Given the description of an element on the screen output the (x, y) to click on. 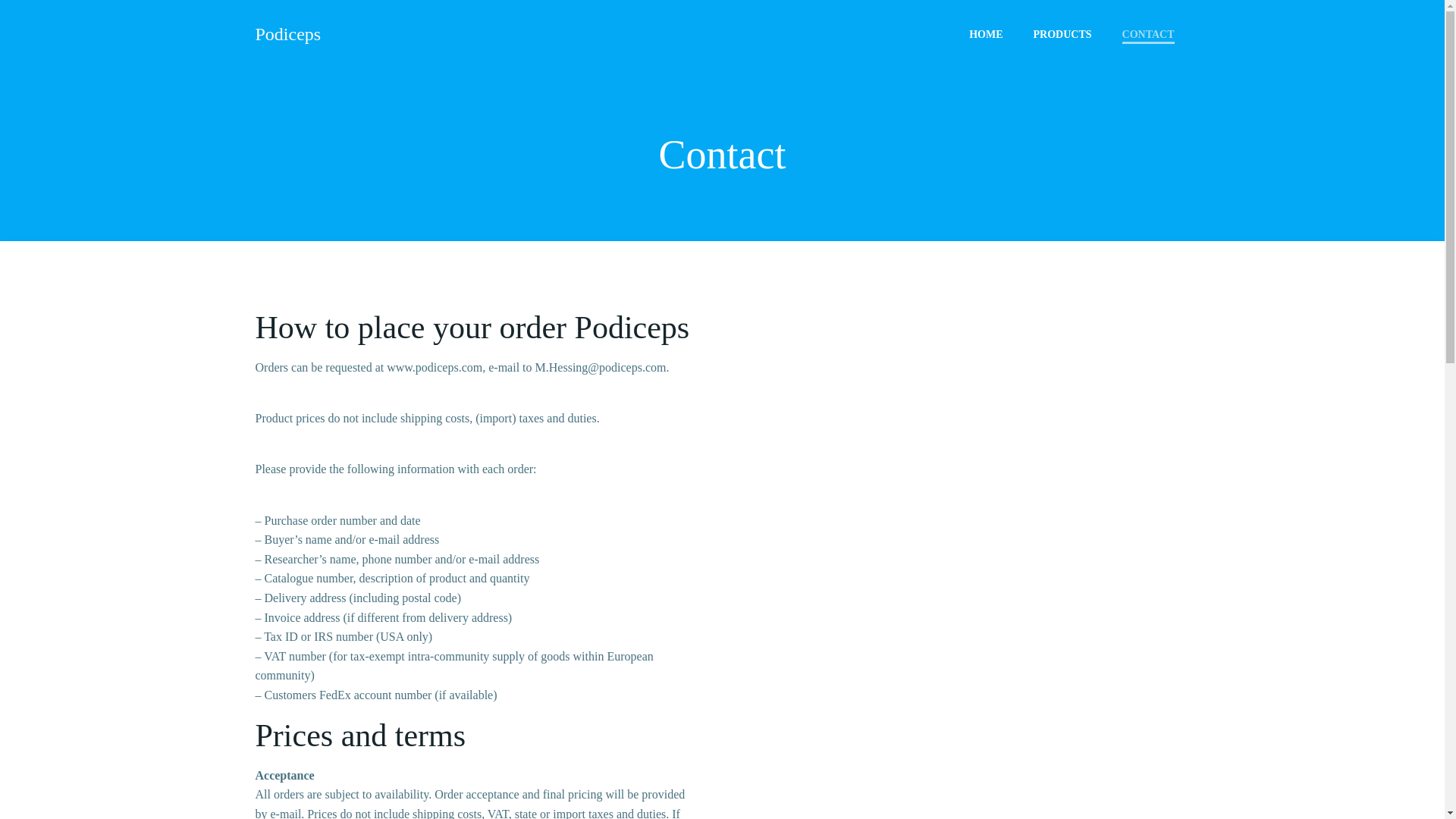
HOME (986, 33)
Colibri (859, 773)
PRODUCTS (1062, 33)
Podiceps (287, 33)
CONTACT (1148, 33)
